Given the description of an element on the screen output the (x, y) to click on. 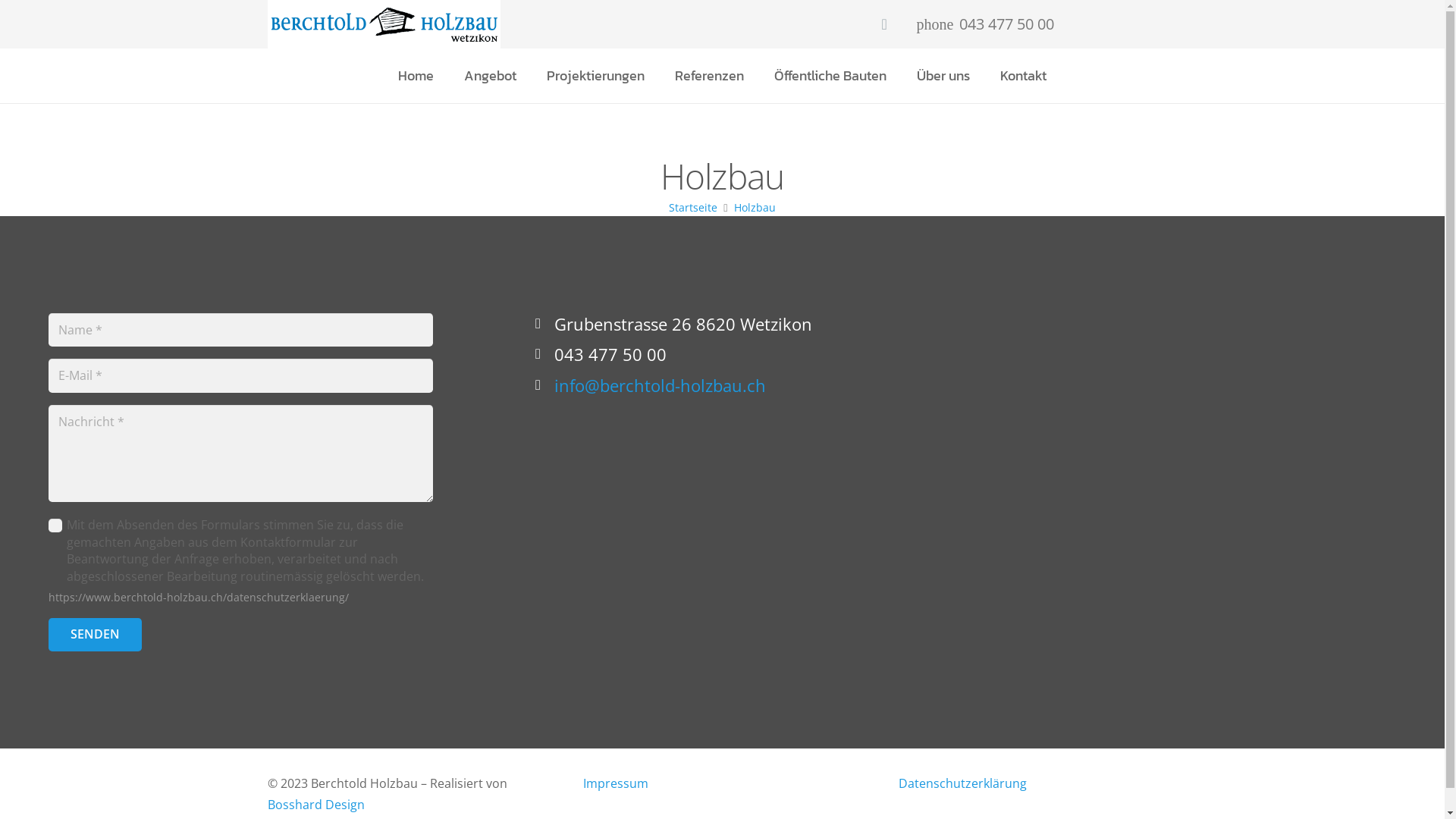
Projektierungen Element type: text (595, 75)
Home Element type: text (415, 75)
Bosshard Design Element type: text (315, 804)
Startseite Element type: text (692, 207)
Impressum Element type: text (614, 783)
Holzbau Element type: text (754, 207)
Angebot Element type: text (489, 75)
SENDEN Element type: text (94, 635)
E-Mail Element type: hover (884, 24)
Referenzen Element type: text (709, 75)
info@berchtold-holzbau.ch Element type: text (659, 384)
Kontakt Element type: text (1023, 75)
